Given the description of an element on the screen output the (x, y) to click on. 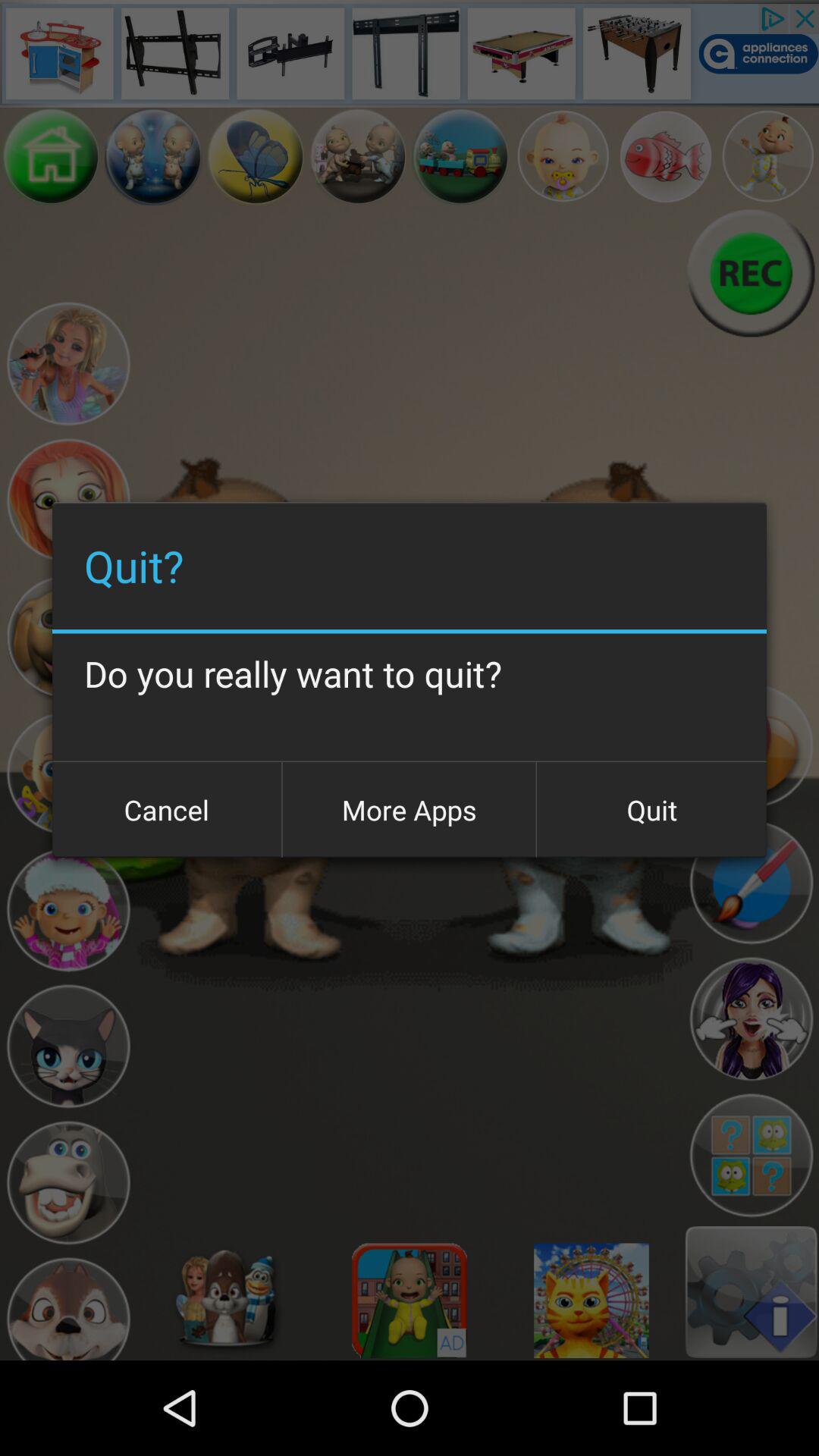
advertisement at bottom (409, 1300)
